Given the description of an element on the screen output the (x, y) to click on. 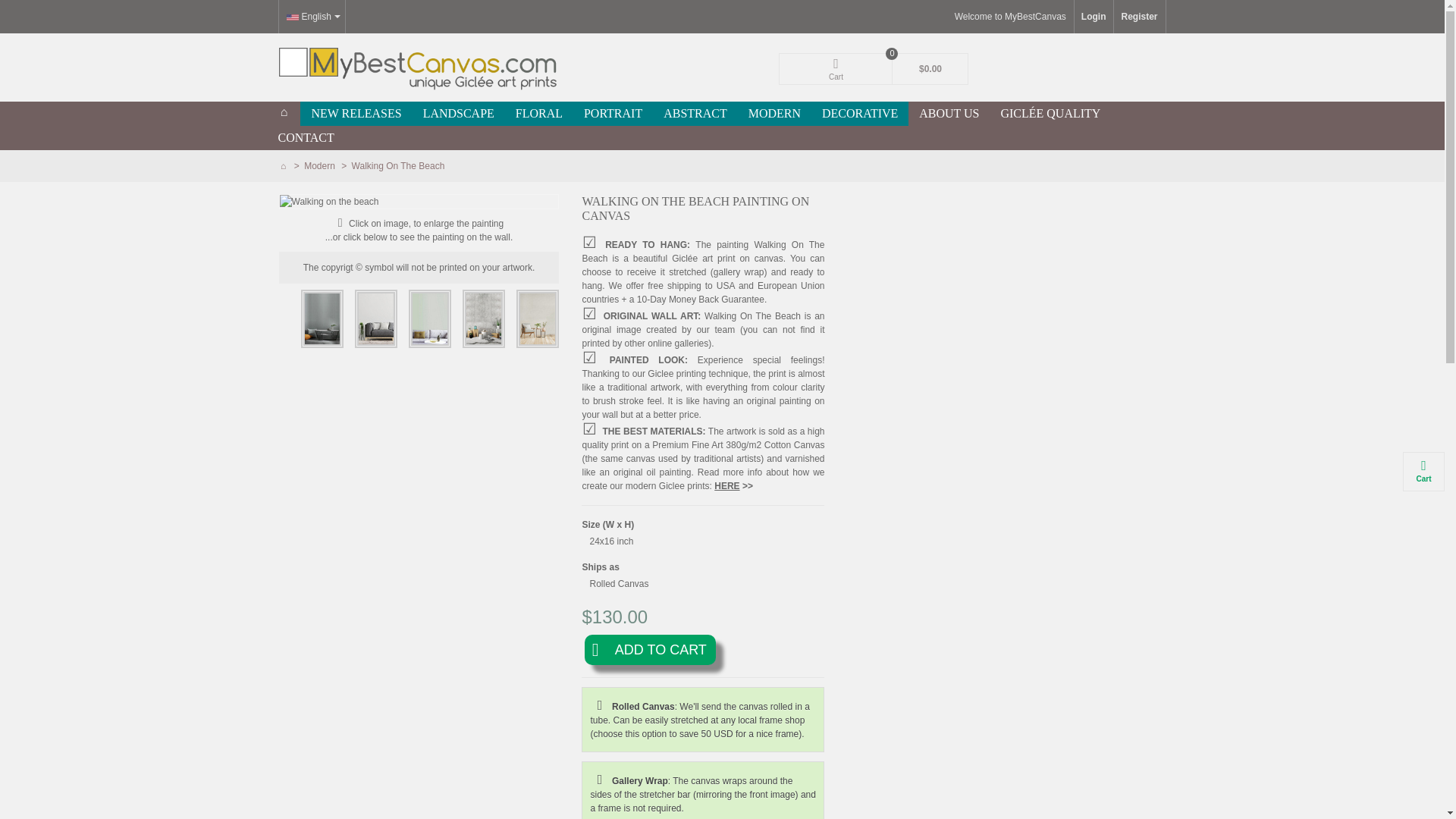
View my shopping cart (873, 69)
NEW RELEASES (355, 113)
Abstract (695, 113)
Landscape (458, 113)
ABSTRACT (695, 113)
FLORAL (539, 113)
Floral (539, 113)
CONTACT (304, 137)
New releases (355, 113)
Decorative (859, 113)
Log In (1094, 16)
PORTRAIT (612, 113)
DECORATIVE (859, 113)
Modern (320, 165)
Portrait (612, 113)
